Given the description of an element on the screen output the (x, y) to click on. 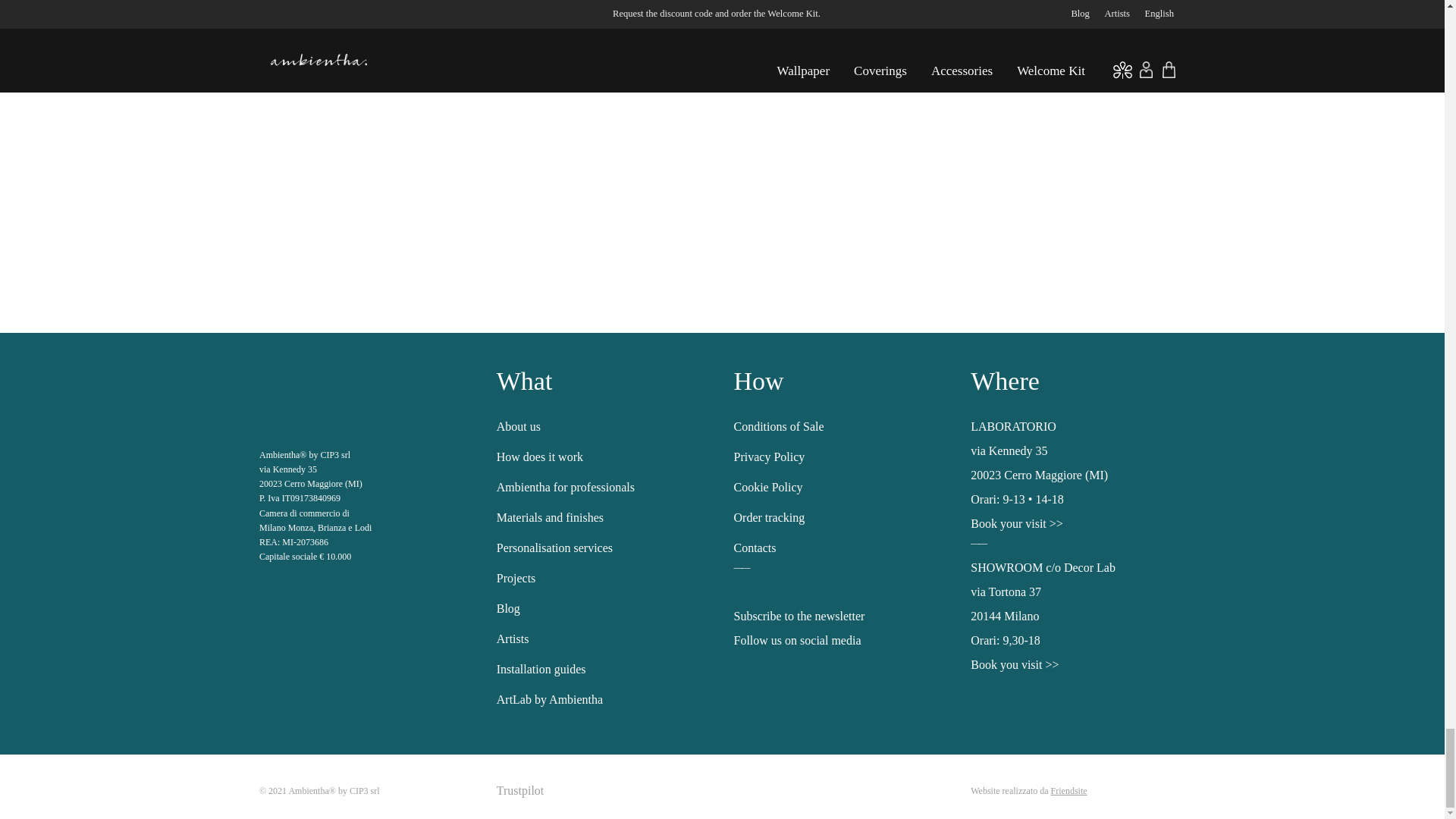
carta-da-parati-design-rhythm-ambientha (485, 121)
a bianco (334, 393)
